Given the description of an element on the screen output the (x, y) to click on. 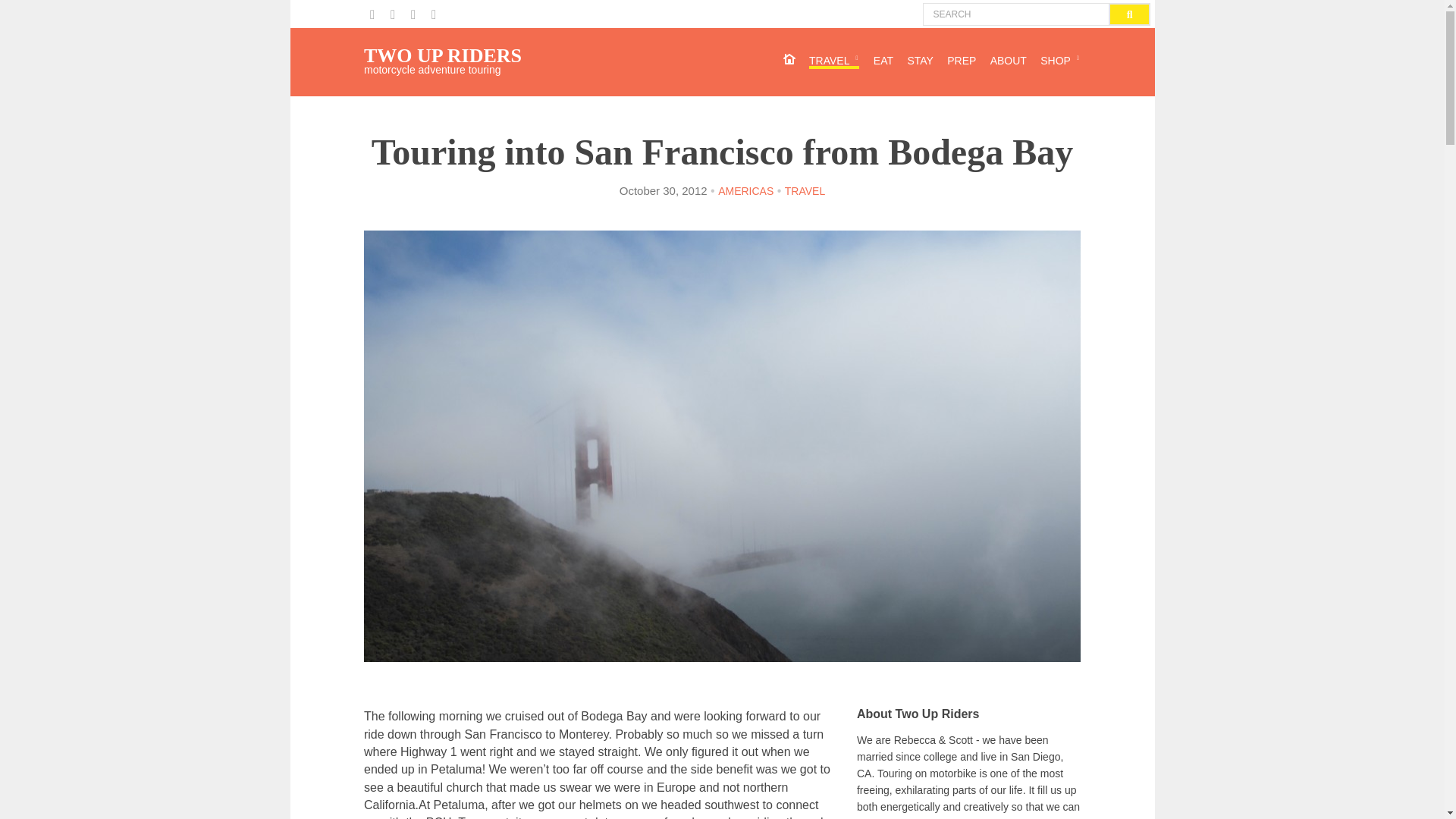
TWO UP RIDERS (442, 55)
STAY (920, 61)
TRAVEL (834, 61)
PREP (961, 61)
SHOP (1060, 61)
GO (1129, 14)
ABOUT (1008, 61)
EAT (883, 61)
AMERICAS (745, 192)
